Given the description of an element on the screen output the (x, y) to click on. 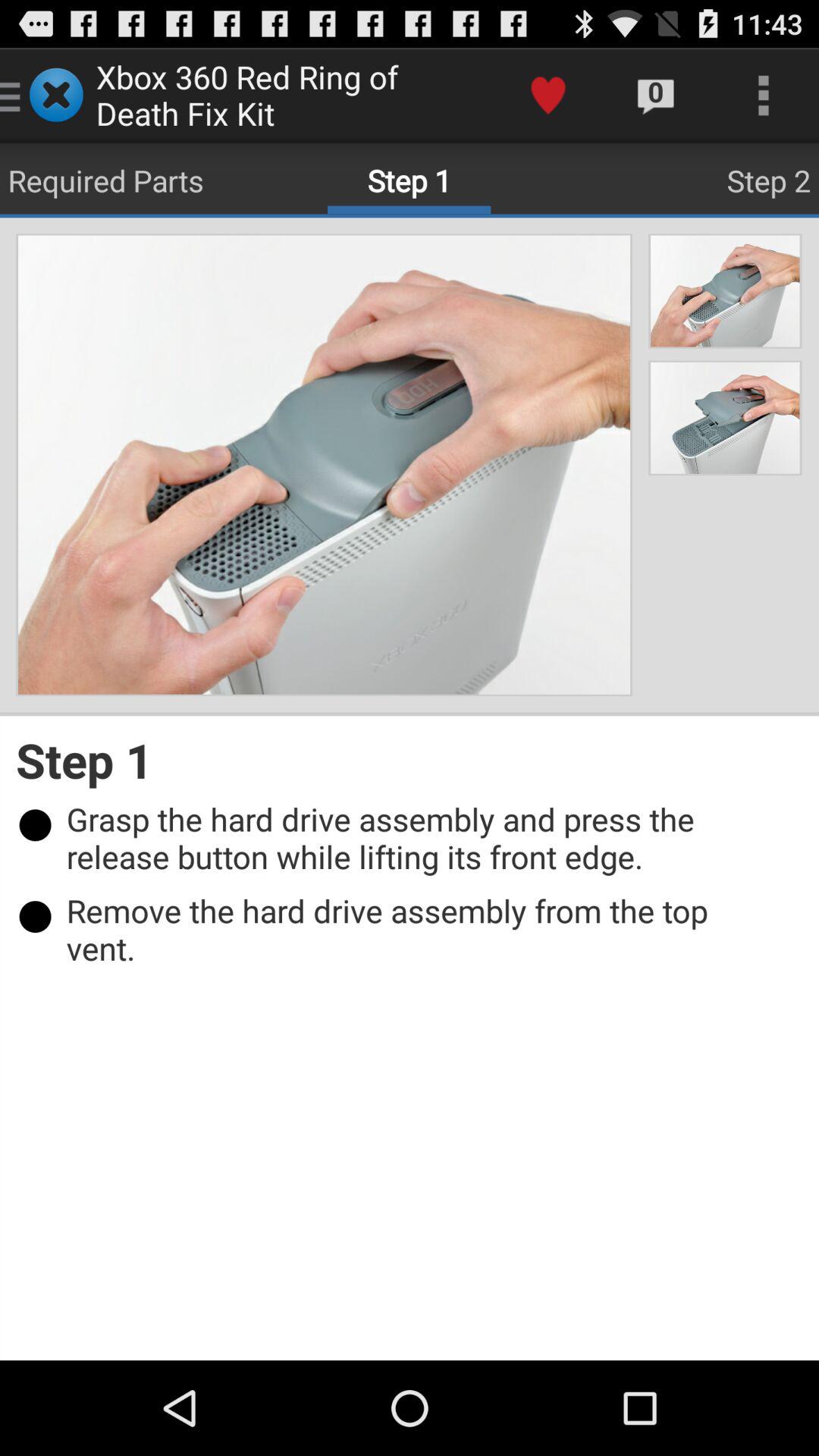
turn on the item next to the xbox 360 red (548, 95)
